Given the description of an element on the screen output the (x, y) to click on. 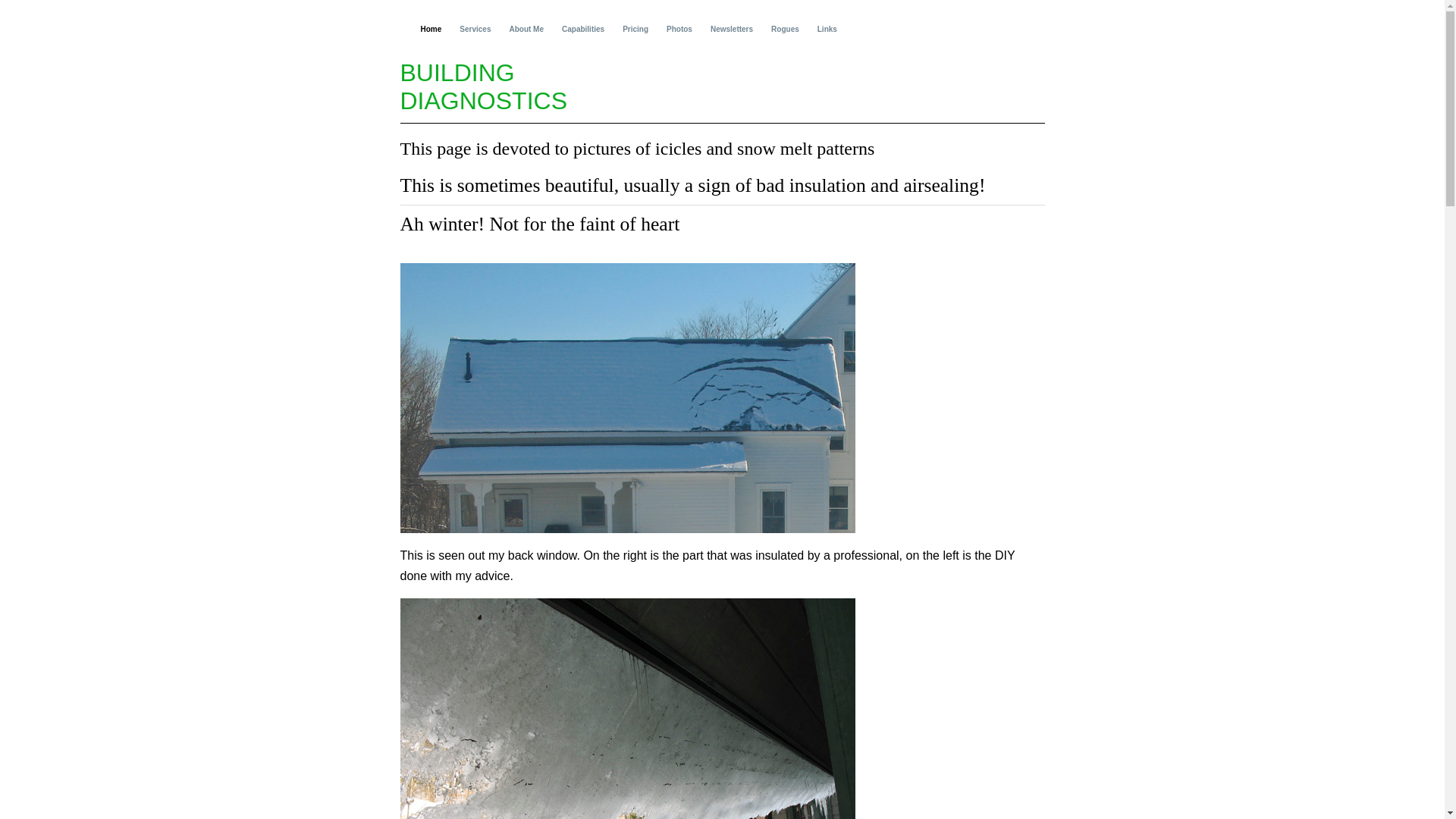
Home (429, 31)
Newsletters (731, 31)
Capabilities (582, 31)
Photos (679, 31)
About Me (526, 31)
Rogues (784, 31)
Pricing (635, 31)
Links (826, 31)
Services (474, 31)
